Given the description of an element on the screen output the (x, y) to click on. 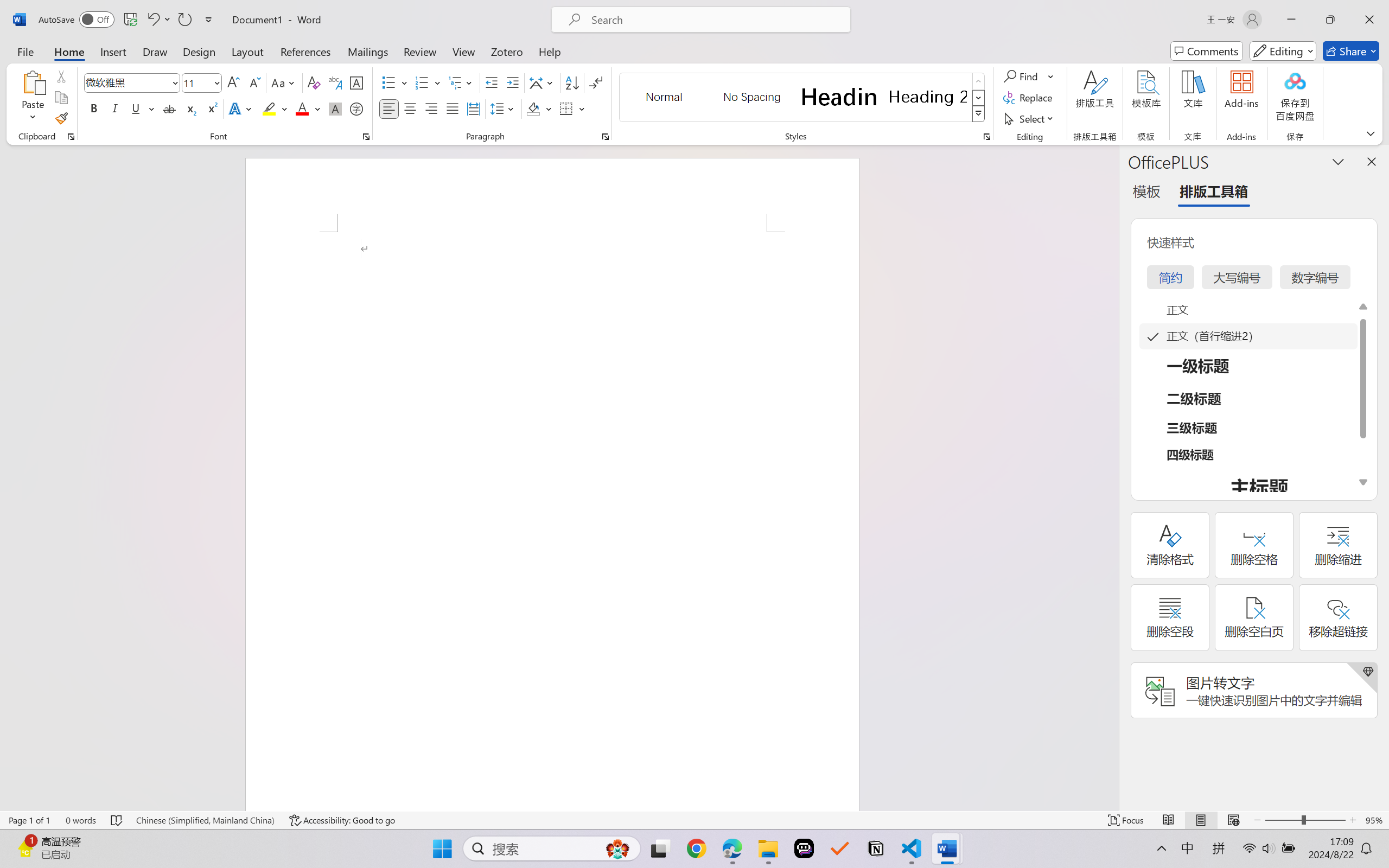
Microsoft search (715, 19)
